Given the description of an element on the screen output the (x, y) to click on. 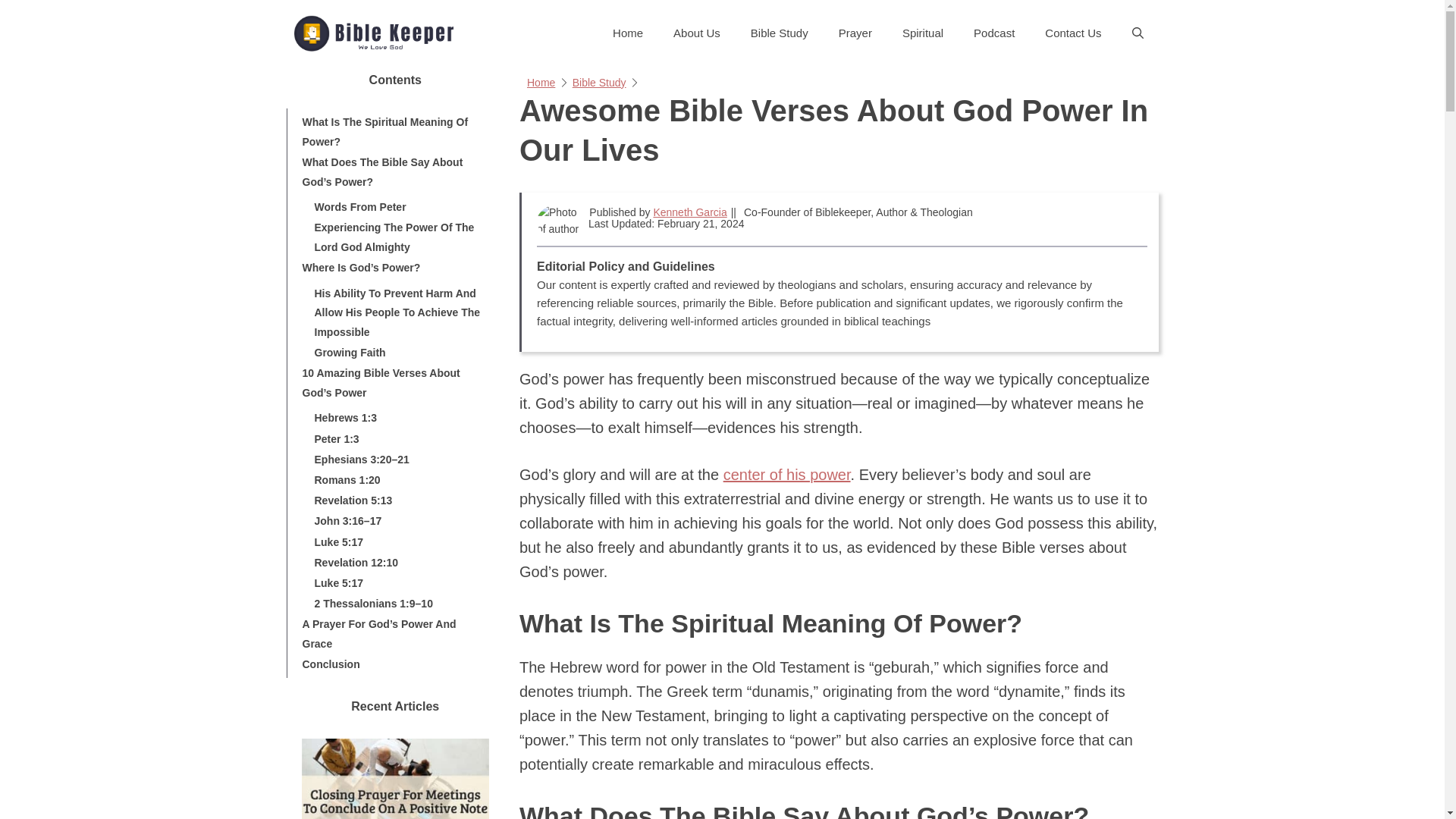
Contact Us (1072, 33)
Bible Study (599, 82)
Home (627, 33)
Kenneth Garcia (689, 212)
center of his power (786, 474)
Home (540, 82)
Bible Study (779, 33)
About Us (696, 33)
Spiritual (922, 33)
Podcast (993, 33)
Prayer (855, 33)
